Given the description of an element on the screen output the (x, y) to click on. 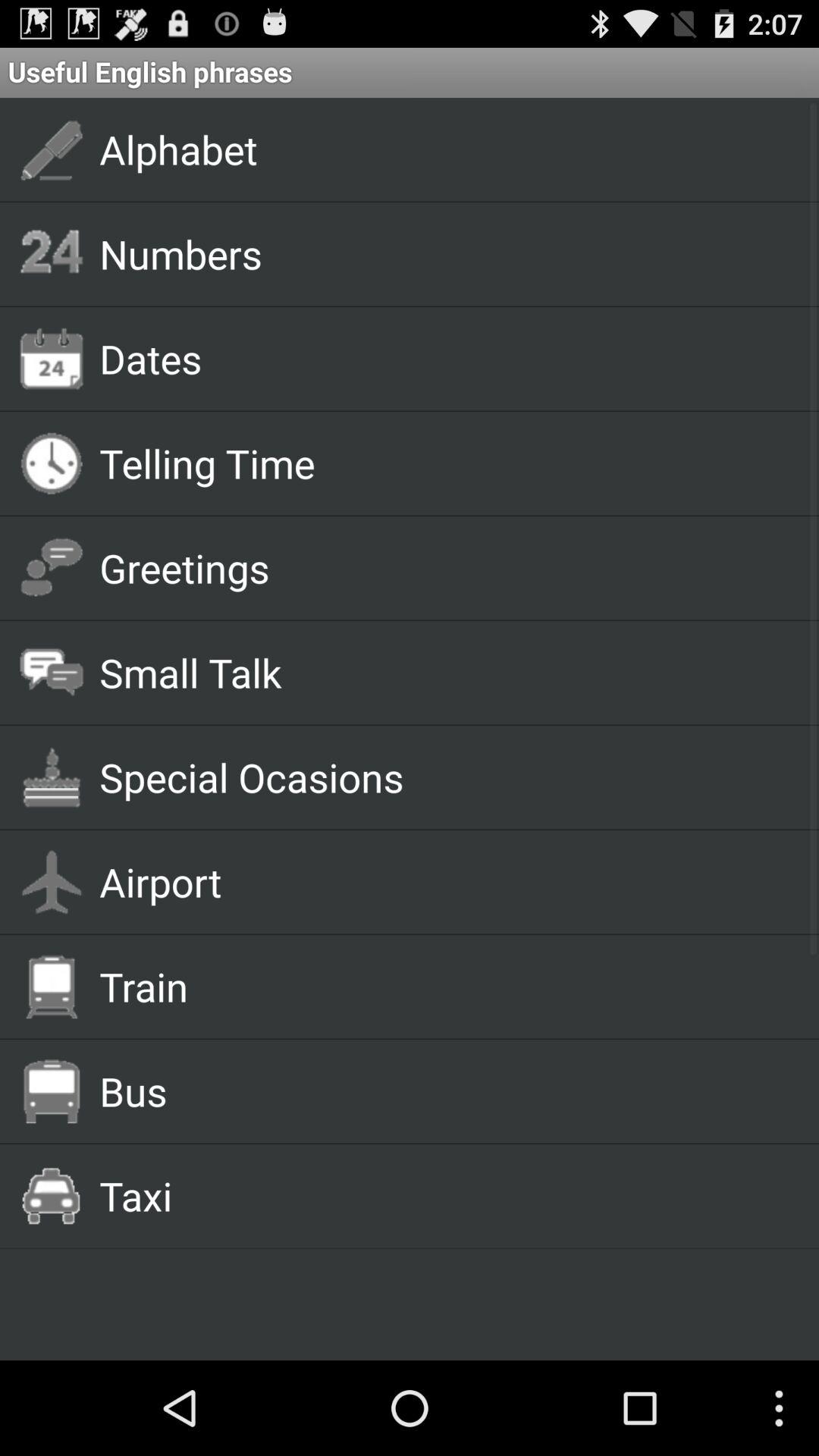
scroll to the telling time app (441, 462)
